Given the description of an element on the screen output the (x, y) to click on. 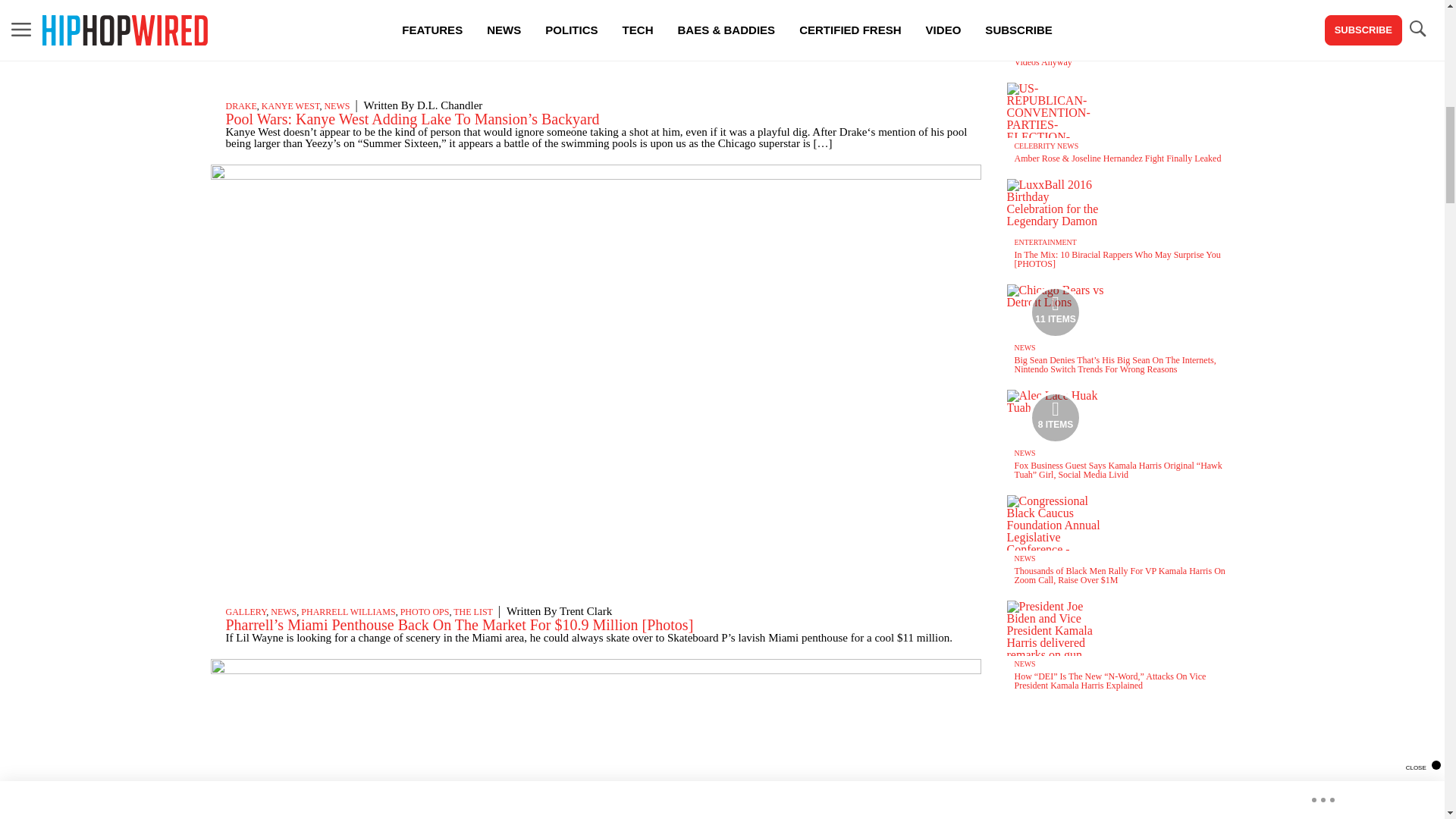
Media Playlist (1055, 417)
PHOTO OPS (424, 611)
KANYE WEST (291, 105)
PHARRELL WILLIAMS (347, 611)
Media Playlist (1055, 311)
NEWS (283, 611)
GALLERY (245, 611)
DRAKE (241, 105)
NEWS (336, 105)
THE LIST (472, 611)
